Given the description of an element on the screen output the (x, y) to click on. 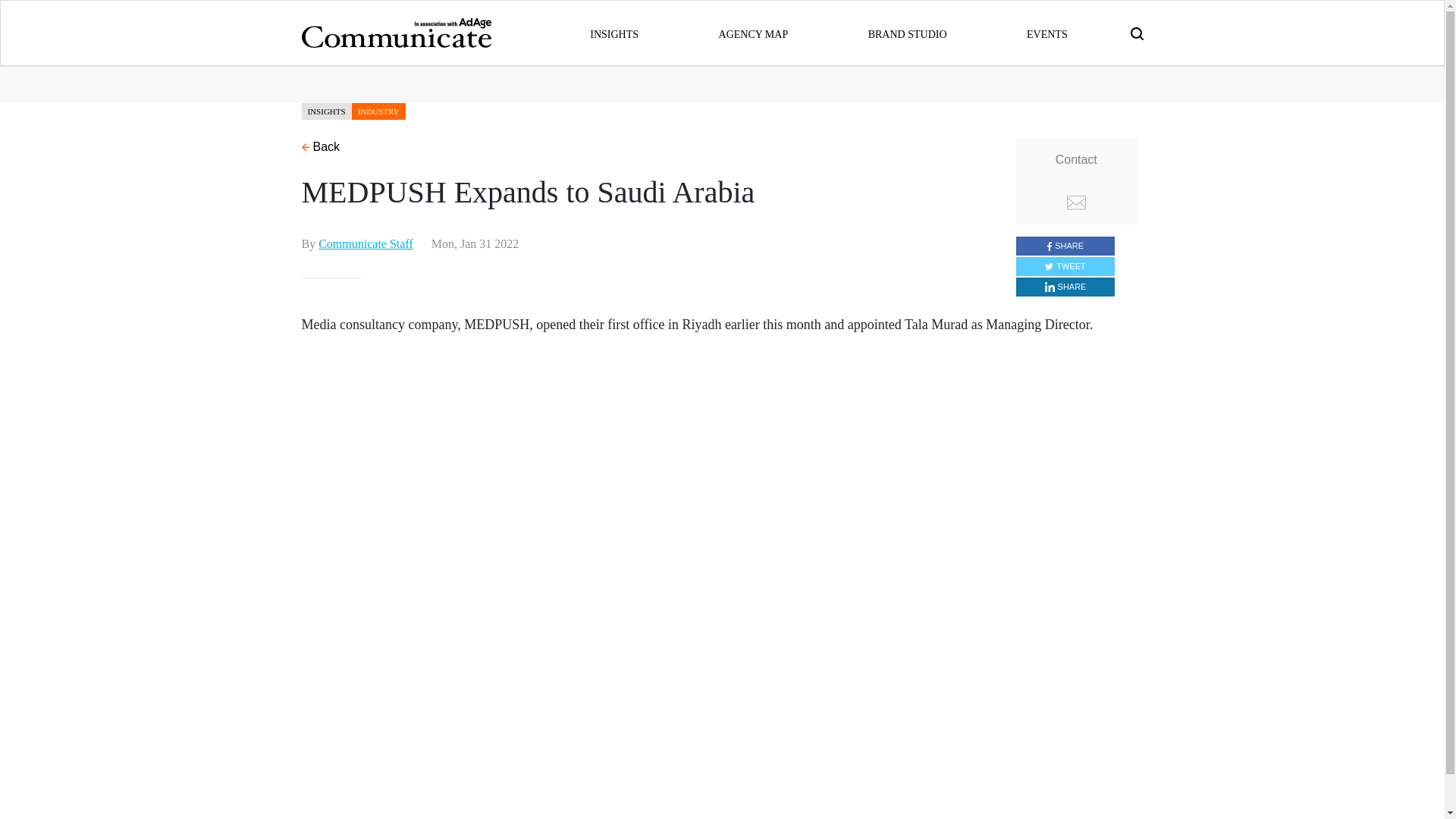
Contact (1076, 181)
EVENTS (1046, 34)
Back (320, 145)
Communicate Staff (365, 242)
INSIGHTS (614, 34)
SHARE (1065, 245)
TWEET (1065, 265)
AGENCY MAP (754, 34)
SHARE (1065, 286)
BRAND STUDIO (907, 34)
